Given the description of an element on the screen output the (x, y) to click on. 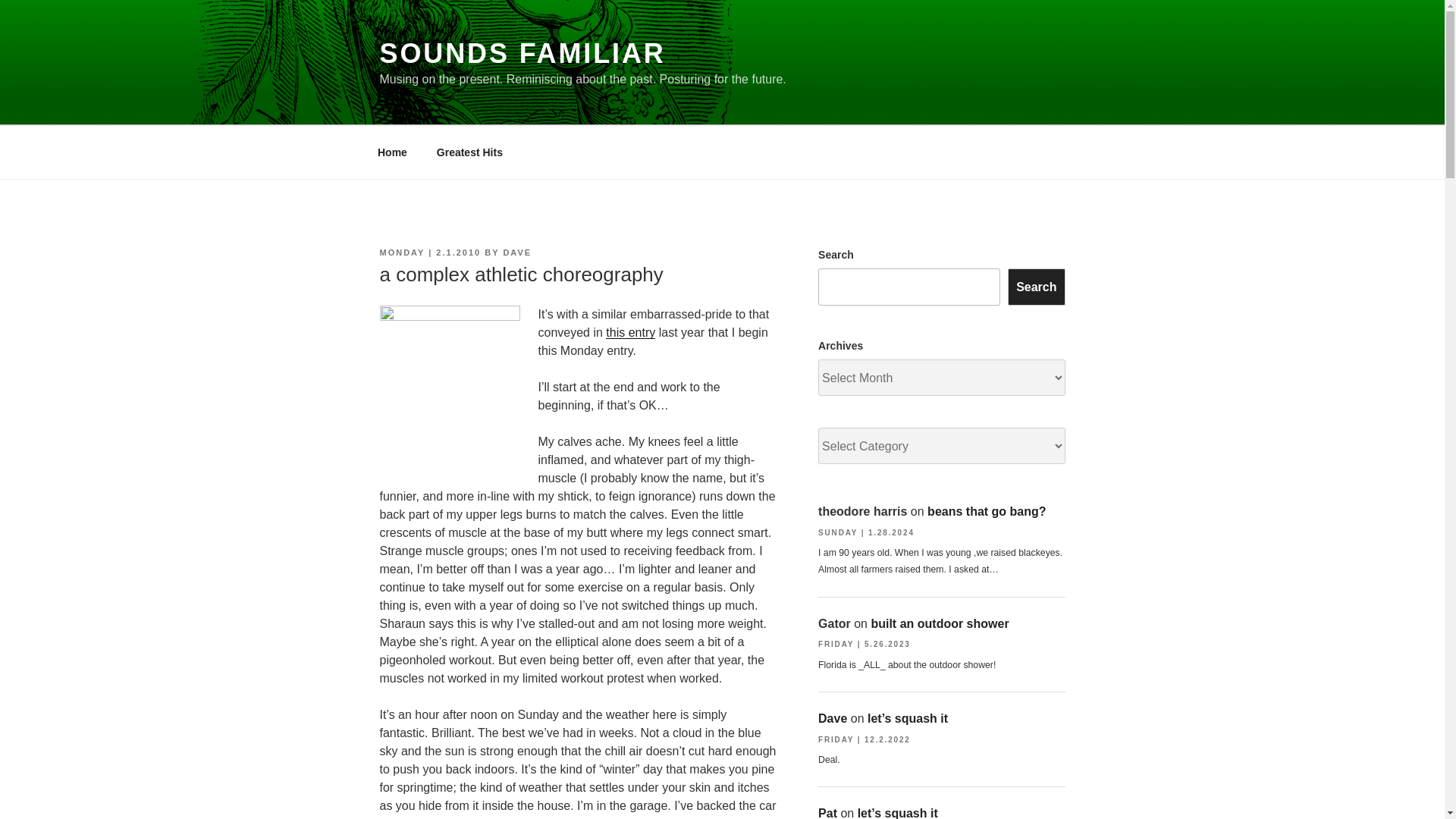
this entry (630, 332)
Search (1035, 286)
DAVE (516, 252)
Greatest Hits (469, 151)
Home (392, 151)
Pat (827, 812)
SOUNDS FAMILIAR (521, 52)
built an outdoor shower (939, 623)
beans that go bang? (986, 511)
Dave (832, 717)
